Given the description of an element on the screen output the (x, y) to click on. 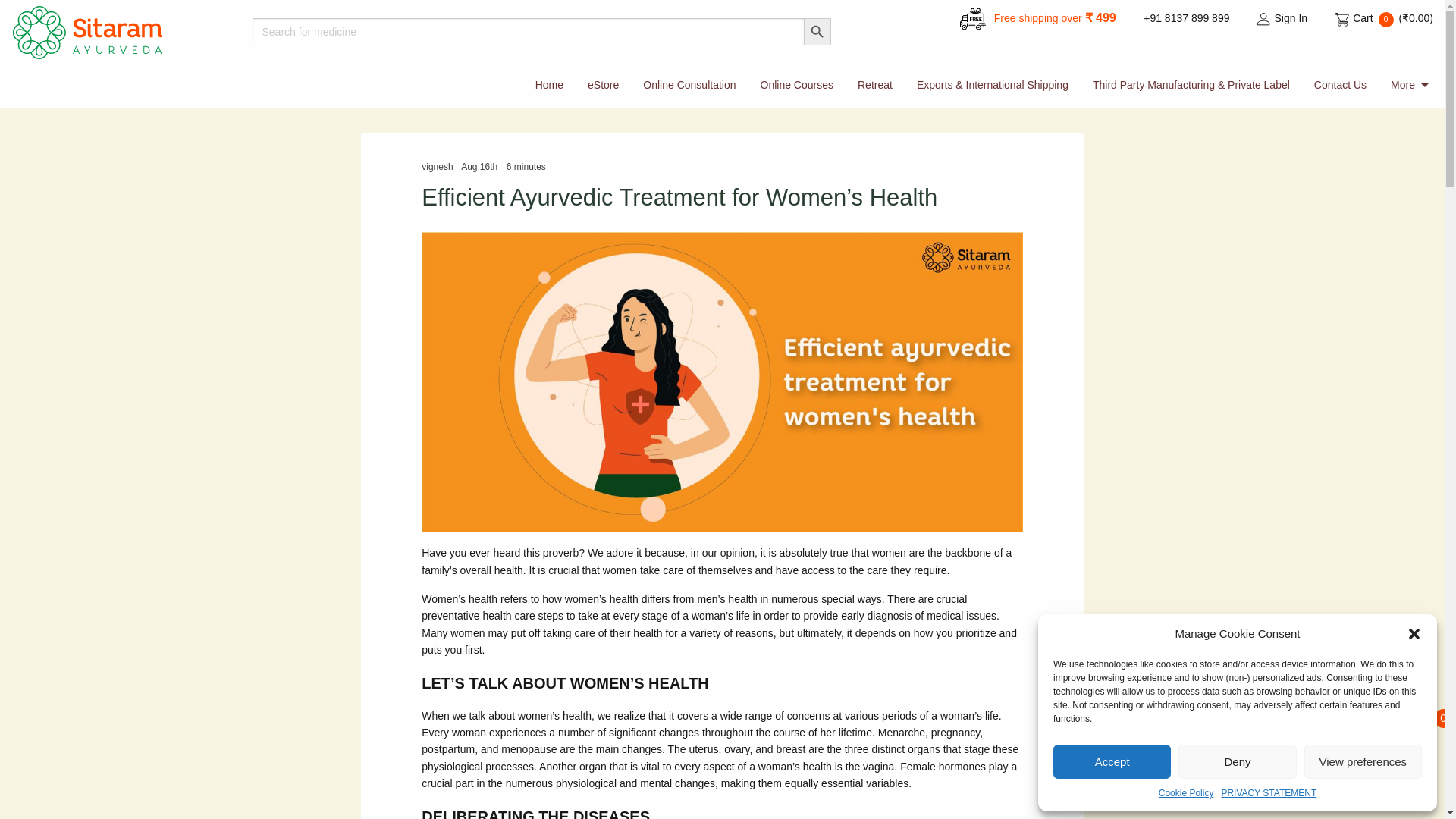
Accept (1111, 761)
View preferences (1363, 761)
Deny (1236, 761)
PRIVACY STATEMENT (1268, 793)
Cookie Policy (1186, 793)
